Given the description of an element on the screen output the (x, y) to click on. 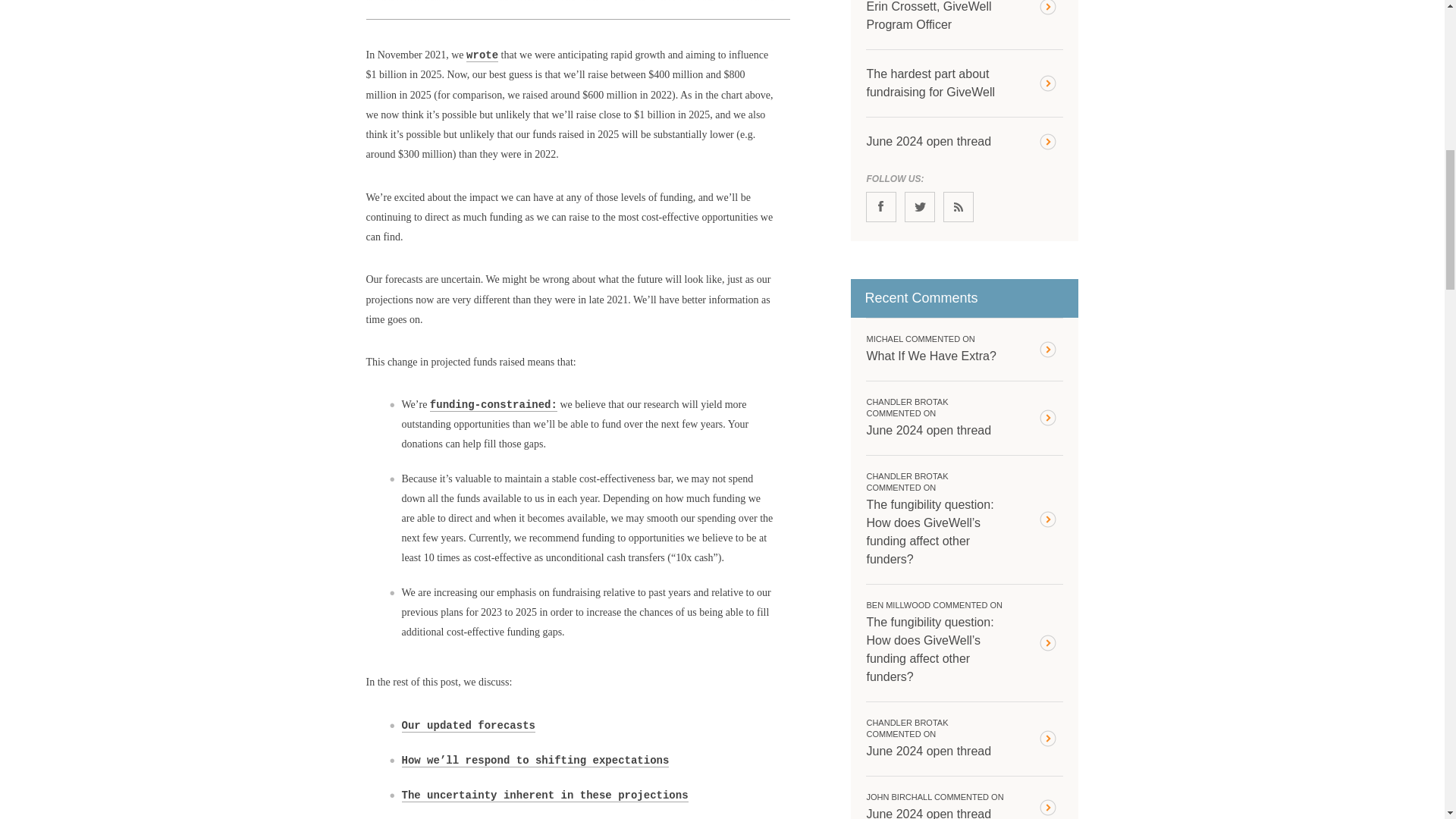
Facebook (881, 206)
Twitter (919, 206)
RSS (958, 206)
